Given the description of an element on the screen output the (x, y) to click on. 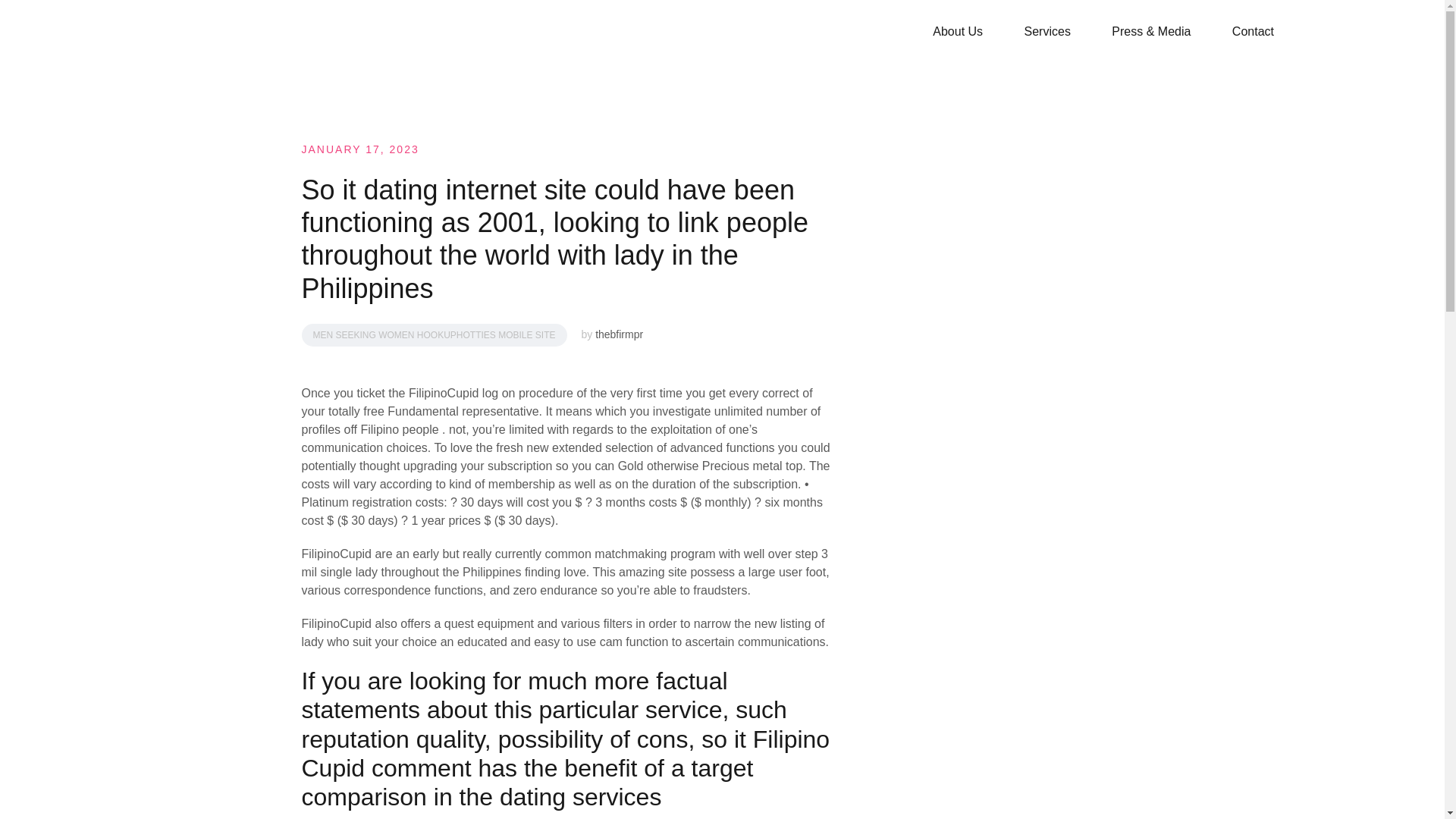
MEN SEEKING WOMEN HOOKUPHOTTIES MOBILE SITE (434, 334)
JANUARY 17, 2023 (360, 149)
thebfirmpr (619, 334)
About Us (957, 31)
Services (1047, 31)
Contact (1252, 31)
